Given the description of an element on the screen output the (x, y) to click on. 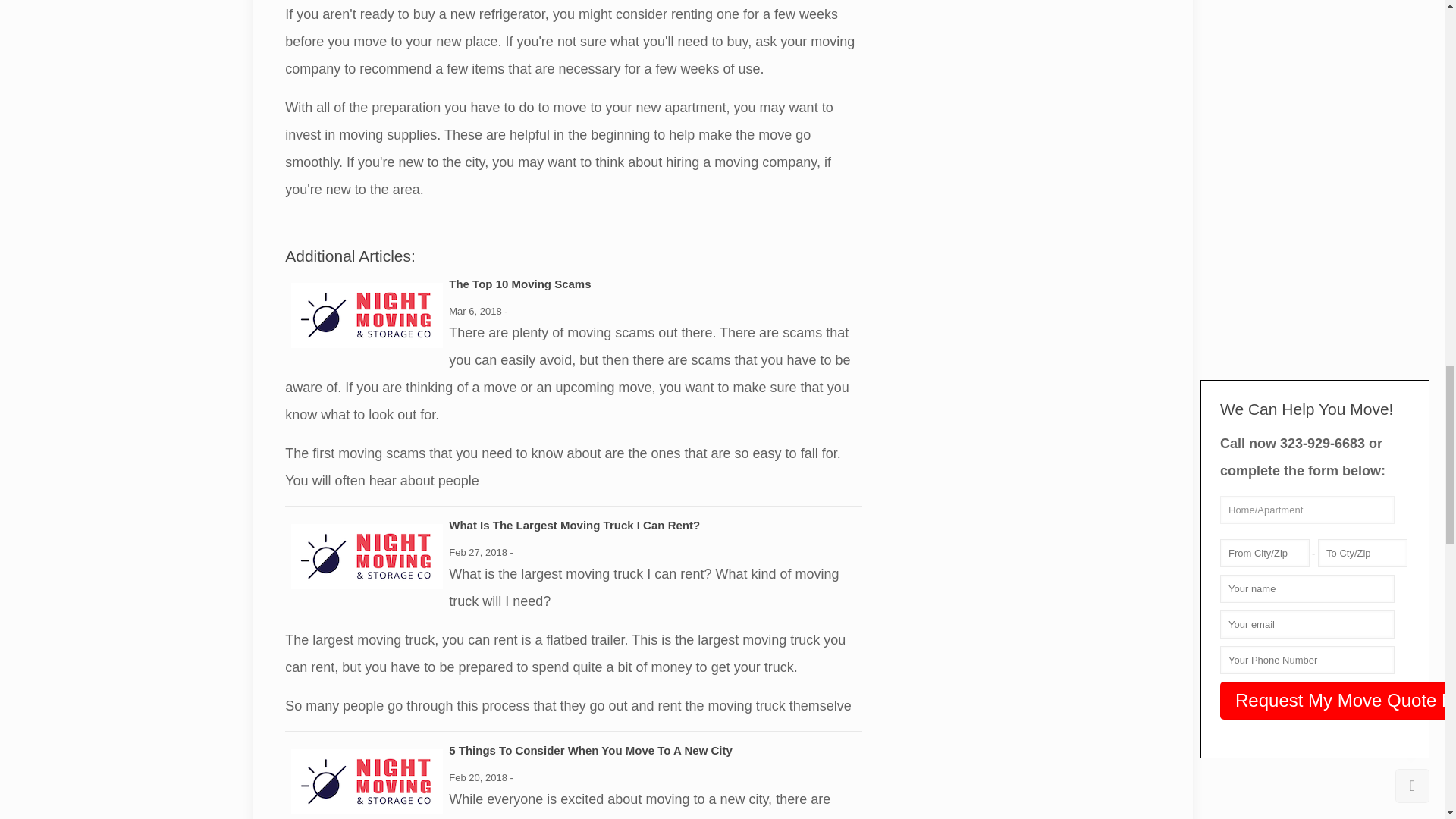
WhatIsTheLargestMovingTruckICanRent Night Movers (366, 556)
5ThingsToConsiderWhenYouMoveToANewCity Night Movers (366, 780)
TheTop10MovingScams Night Movers (366, 314)
